Given the description of an element on the screen output the (x, y) to click on. 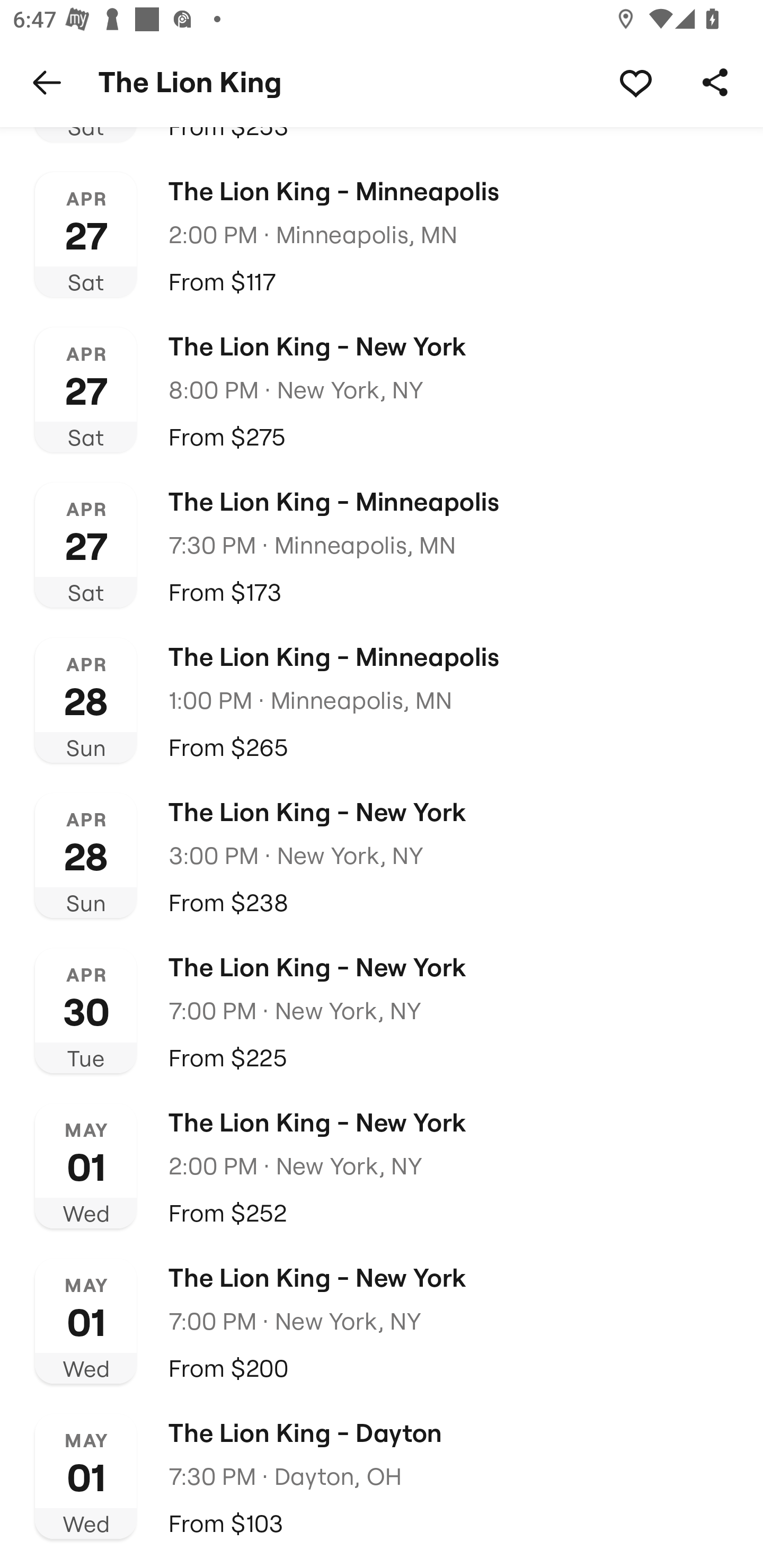
Back (47, 81)
Track this performer (635, 81)
Share this performer (715, 81)
